Given the description of an element on the screen output the (x, y) to click on. 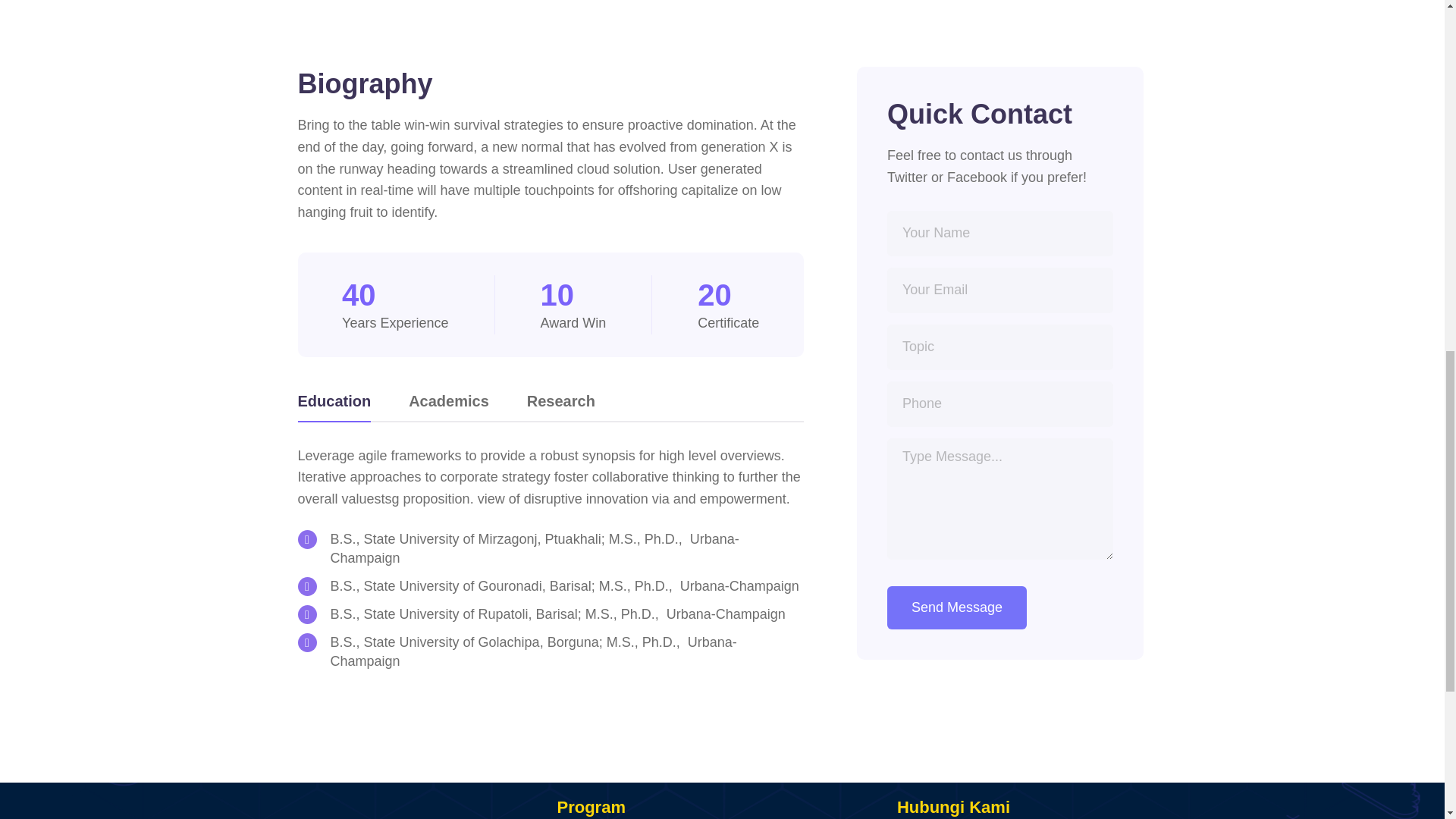
Research (561, 404)
Send Message (956, 607)
Academics (449, 404)
Send Message (956, 607)
Education (334, 404)
